Given the description of an element on the screen output the (x, y) to click on. 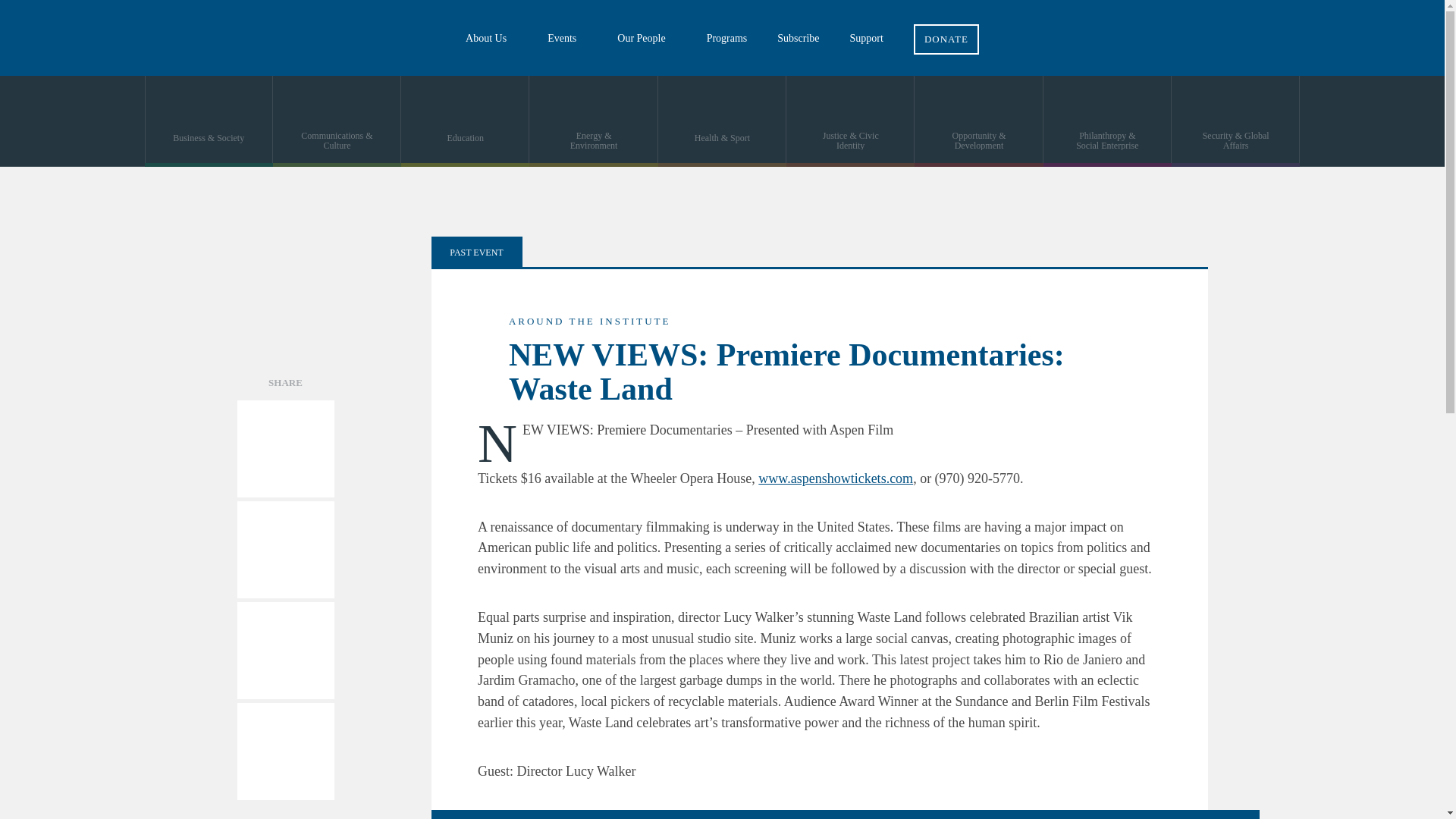
The Aspen Institute (113, 38)
Events (567, 38)
About Us (490, 38)
Subscribe (797, 38)
Education (465, 121)
DONATE (946, 27)
Programs (726, 38)
Our People (646, 38)
